Given the description of an element on the screen output the (x, y) to click on. 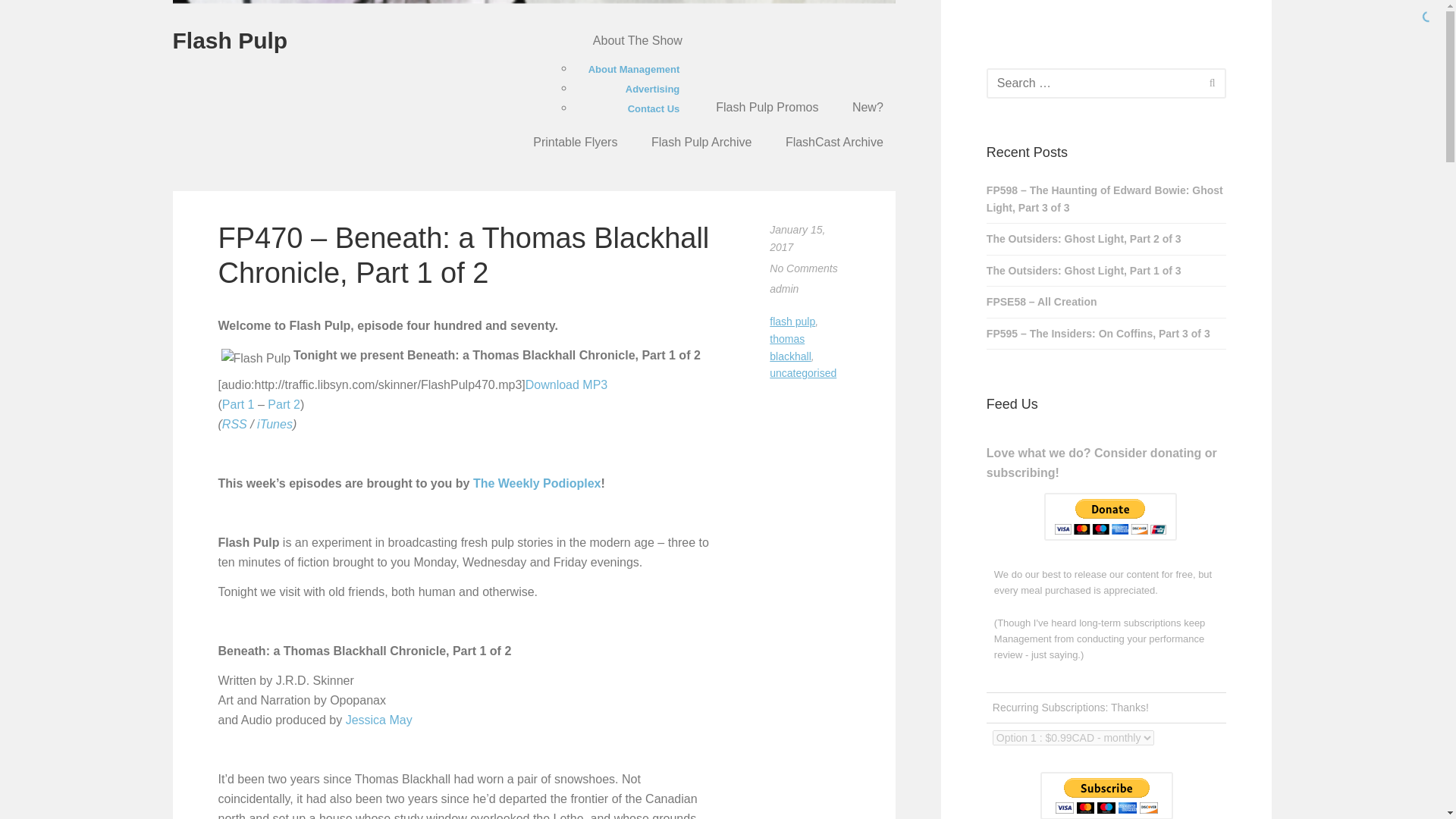
Jessica May (379, 719)
New? (868, 107)
The Outsiders: Ghost Light, Part 2 of 3 (1107, 238)
Search (1211, 81)
Part 2 (283, 404)
Part 1 (238, 404)
thomas blackhall (790, 347)
Flash Pulp Archive (701, 142)
The Outsiders: Ghost Light, Part 1 of 3 (1107, 270)
iTunes (274, 423)
